Given the description of an element on the screen output the (x, y) to click on. 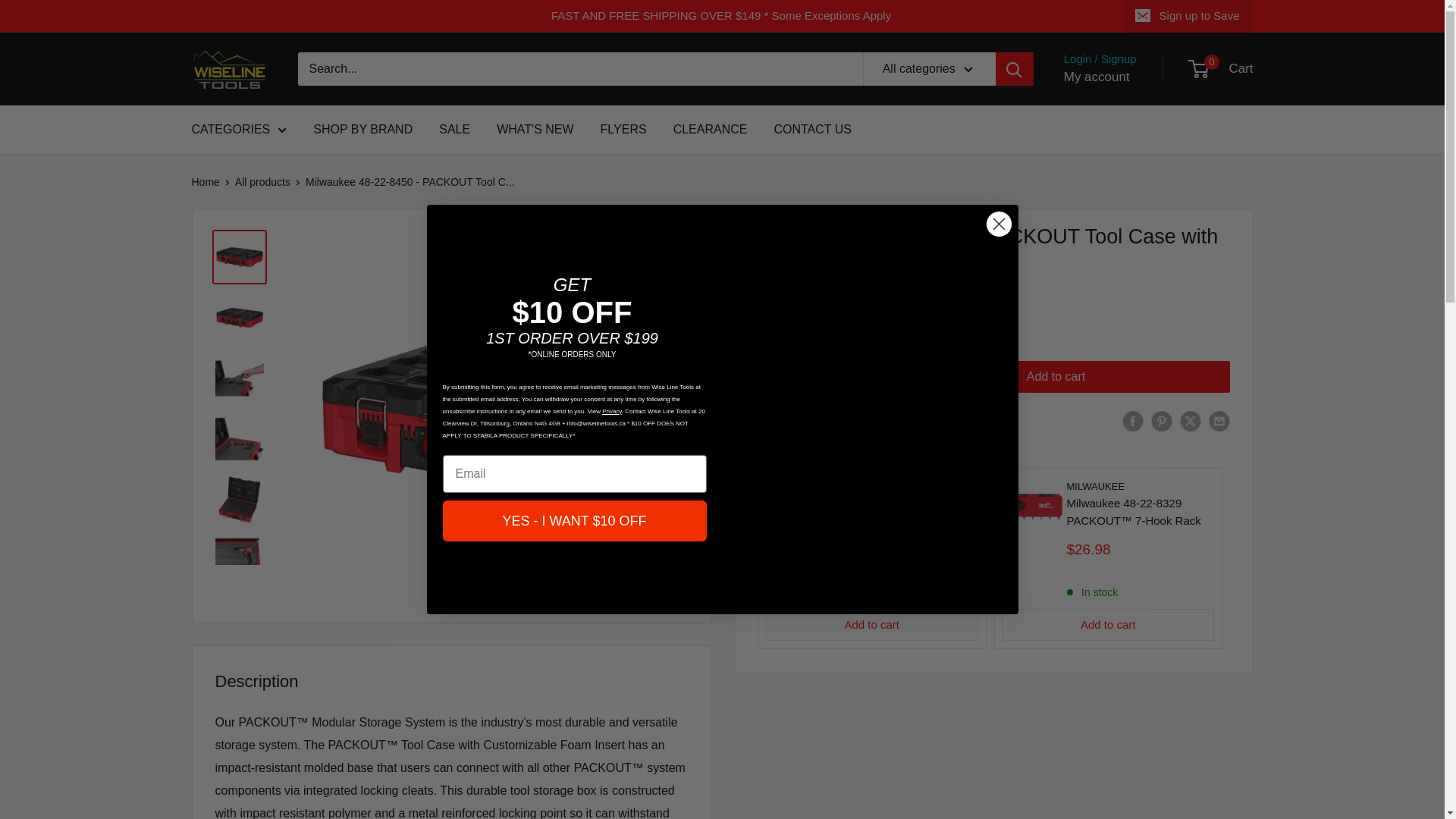
Increase quantity by 1 (854, 377)
Decrease quantity by 1 (774, 377)
1 (814, 377)
Sign up to Save (1188, 15)
